Given the description of an element on the screen output the (x, y) to click on. 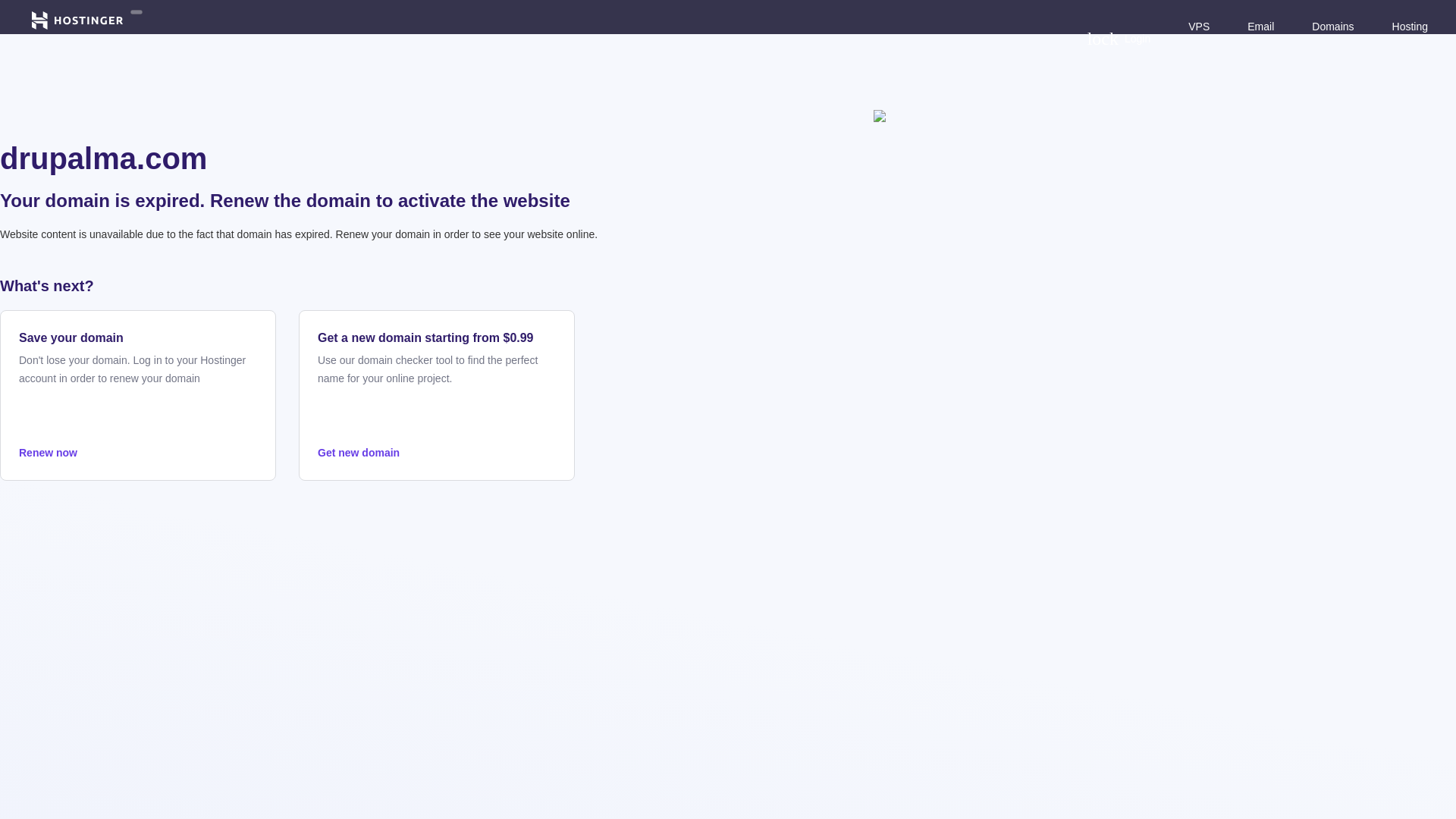
Email (1260, 25)
Renew now (137, 452)
VPS (1198, 25)
Get new domain (436, 452)
Domains (1331, 25)
Hosting (1410, 25)
